Given the description of an element on the screen output the (x, y) to click on. 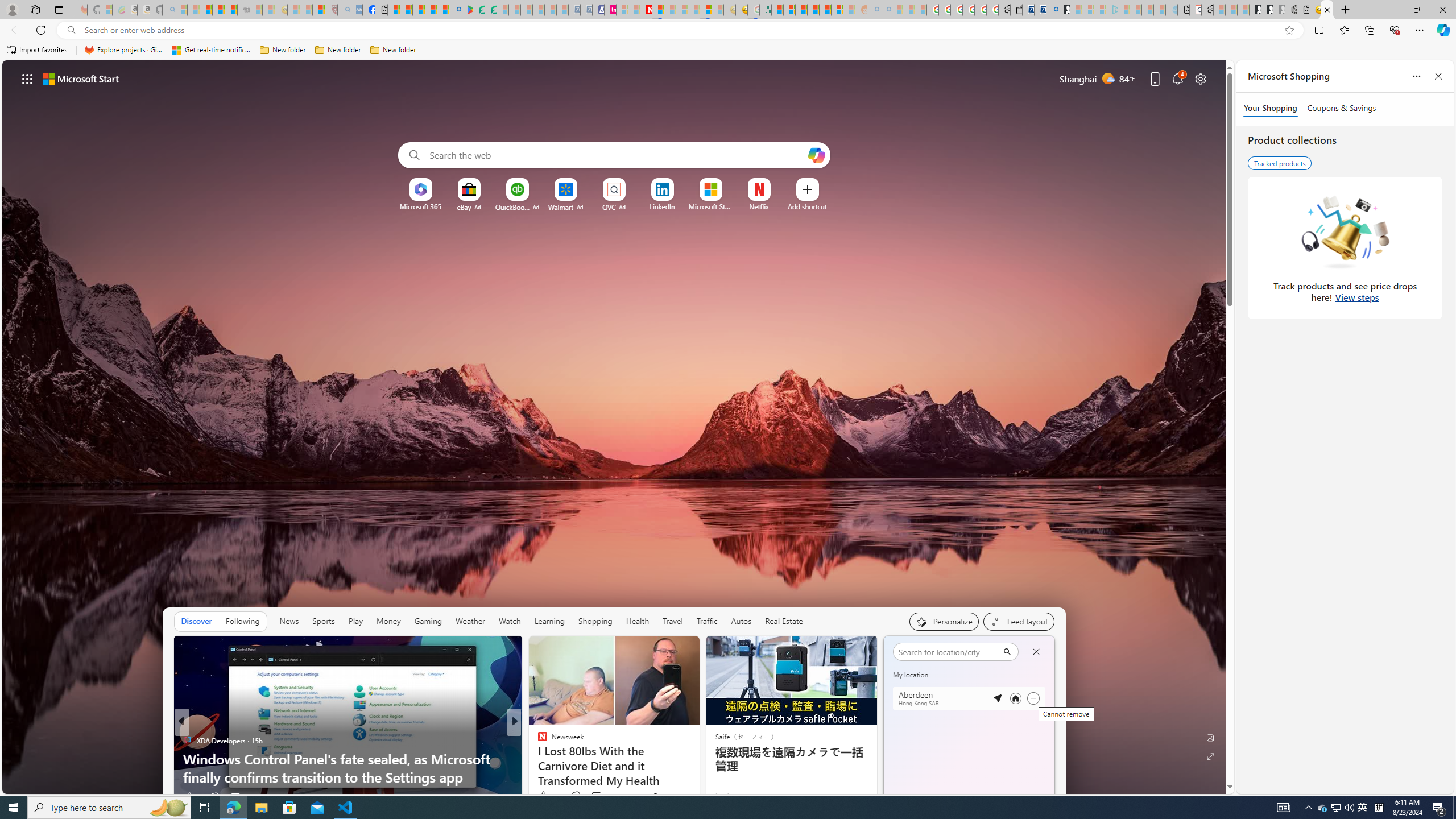
View comments 11 Comment (597, 796)
View comments 30 Comment (592, 797)
Rain showers (1030, 742)
Class: weather-arrow-glyph (1043, 678)
View comments 11 Comment (592, 797)
69 Like (543, 796)
